Given the description of an element on the screen output the (x, y) to click on. 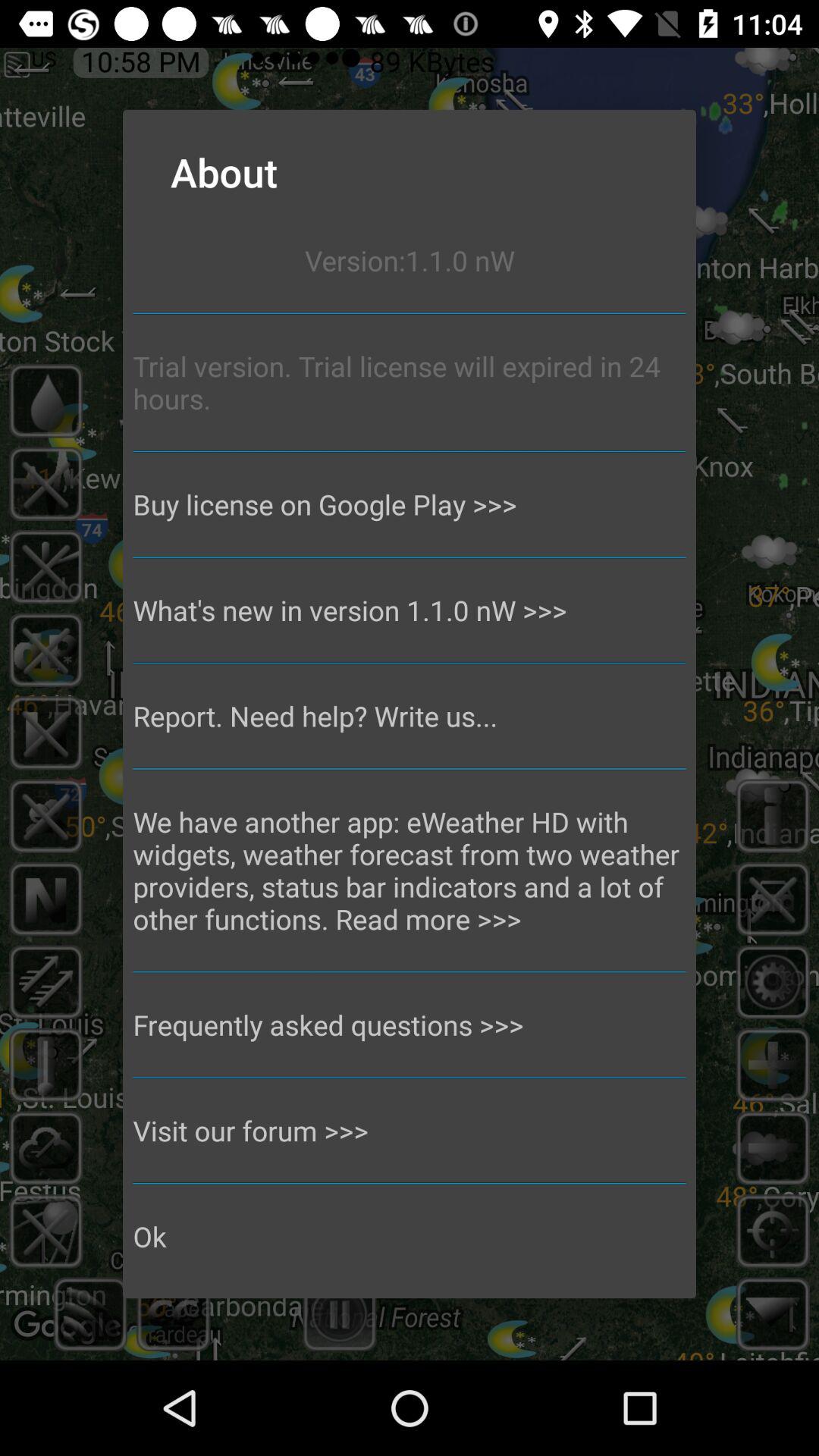
click the we have another icon (409, 870)
